Given the description of an element on the screen output the (x, y) to click on. 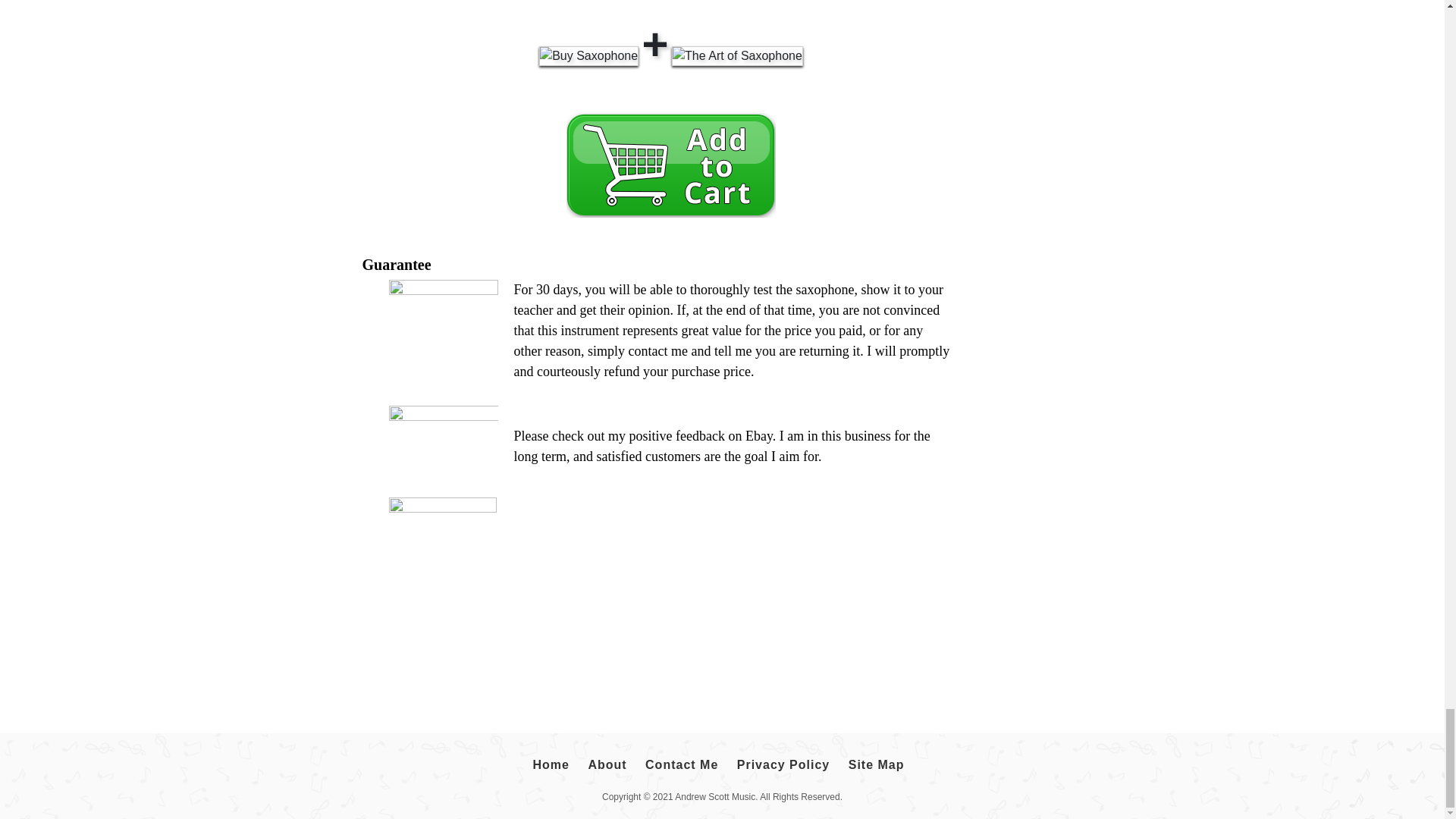
Privacy Policy (783, 764)
Contact Me (682, 764)
Home (550, 764)
About (606, 764)
Site Map (876, 764)
